Given the description of an element on the screen output the (x, y) to click on. 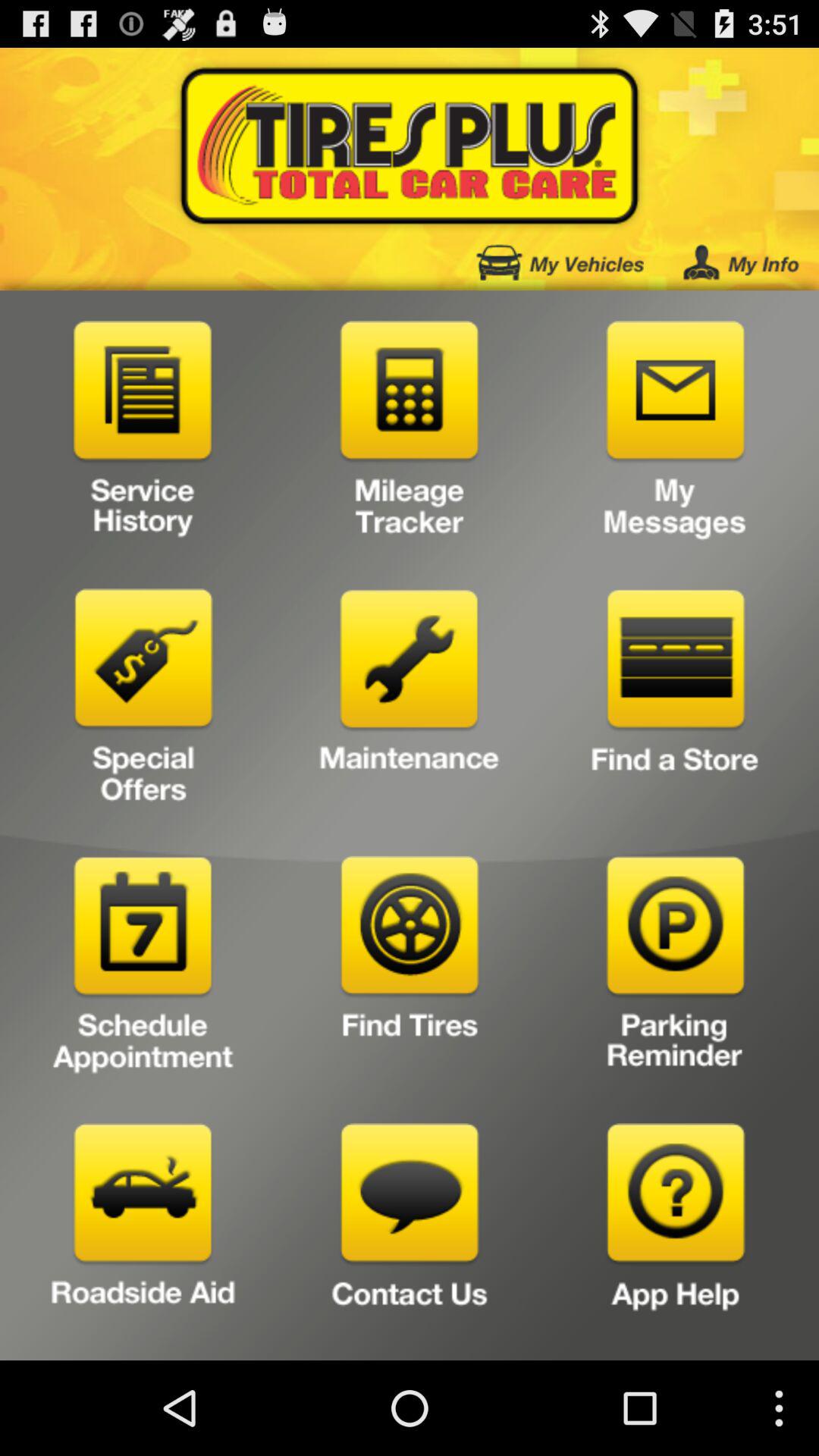
my info option (741, 262)
